Given the description of an element on the screen output the (x, y) to click on. 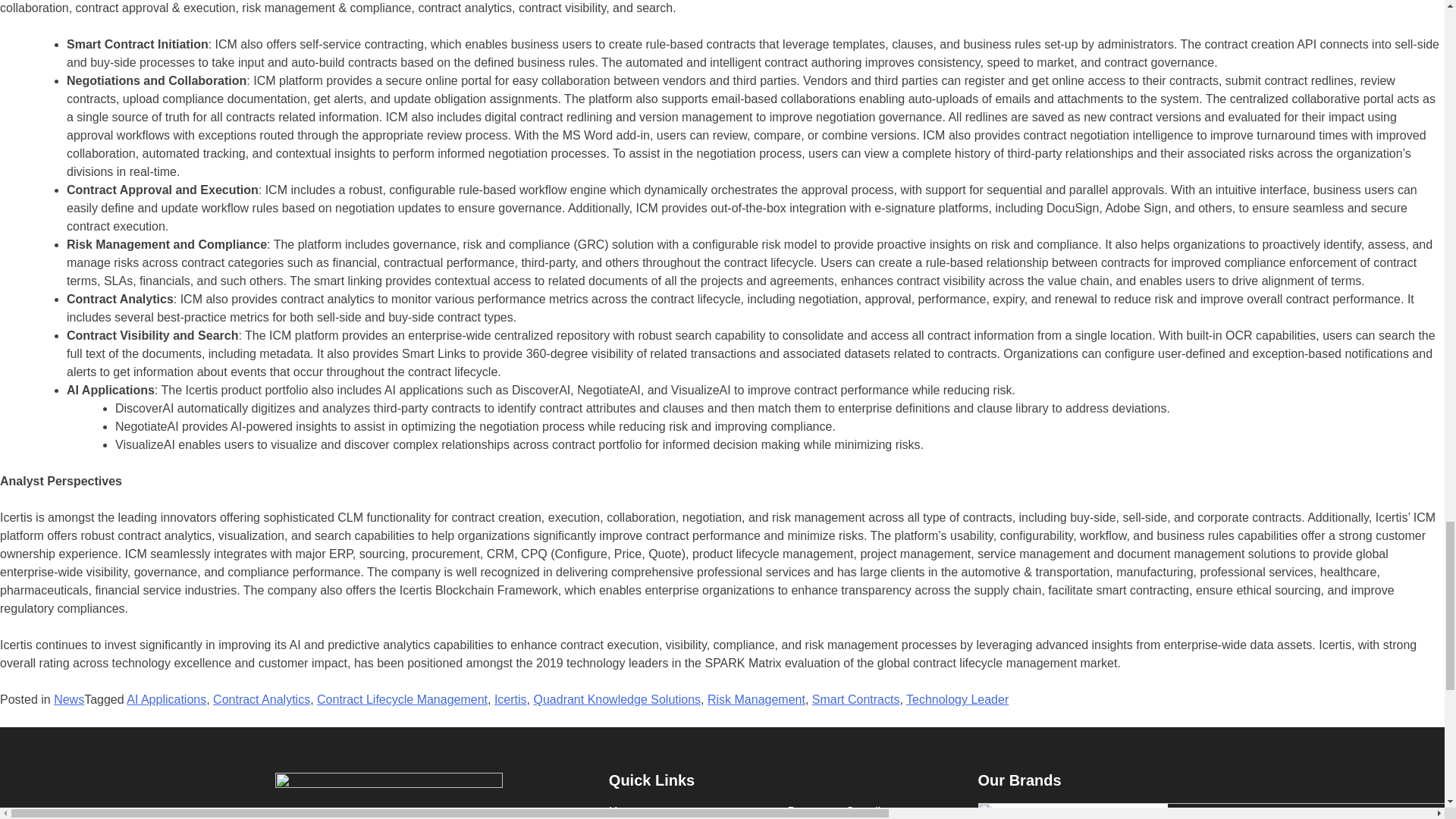
Contract Analytics (261, 698)
News (68, 698)
Contract Lifecycle Management (402, 698)
AI Applications (166, 698)
